Given the description of an element on the screen output the (x, y) to click on. 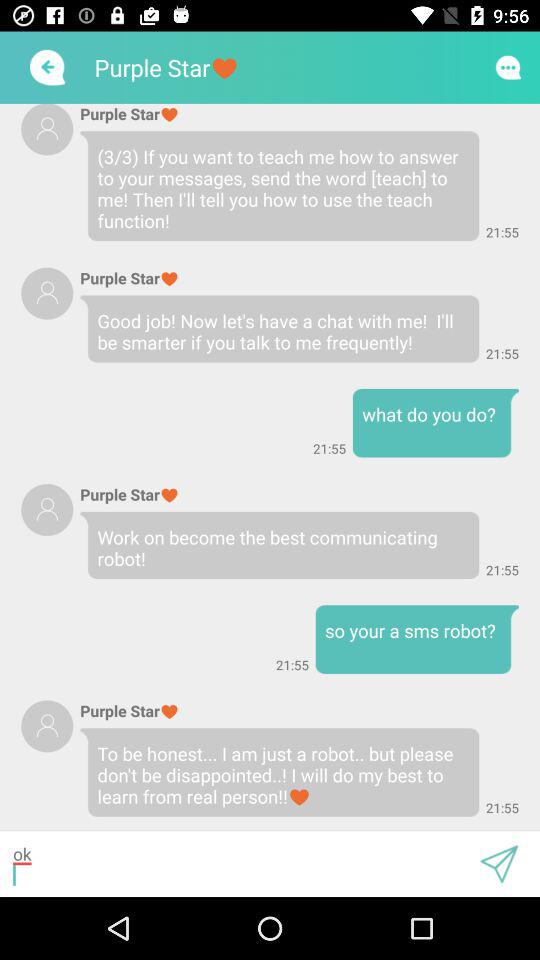
profile icon (47, 293)
